Given the description of an element on the screen output the (x, y) to click on. 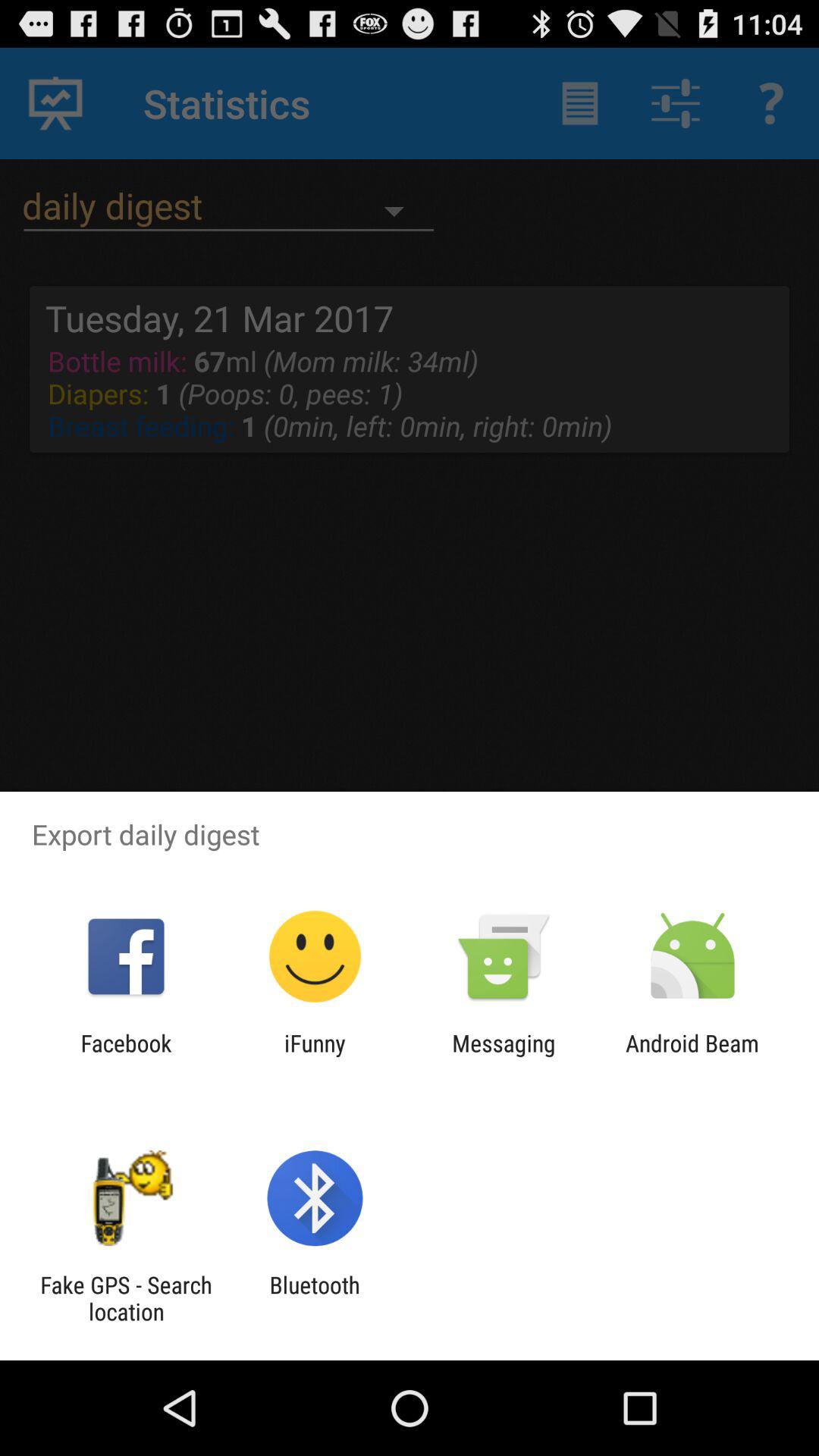
scroll to the facebook item (125, 1056)
